Given the description of an element on the screen output the (x, y) to click on. 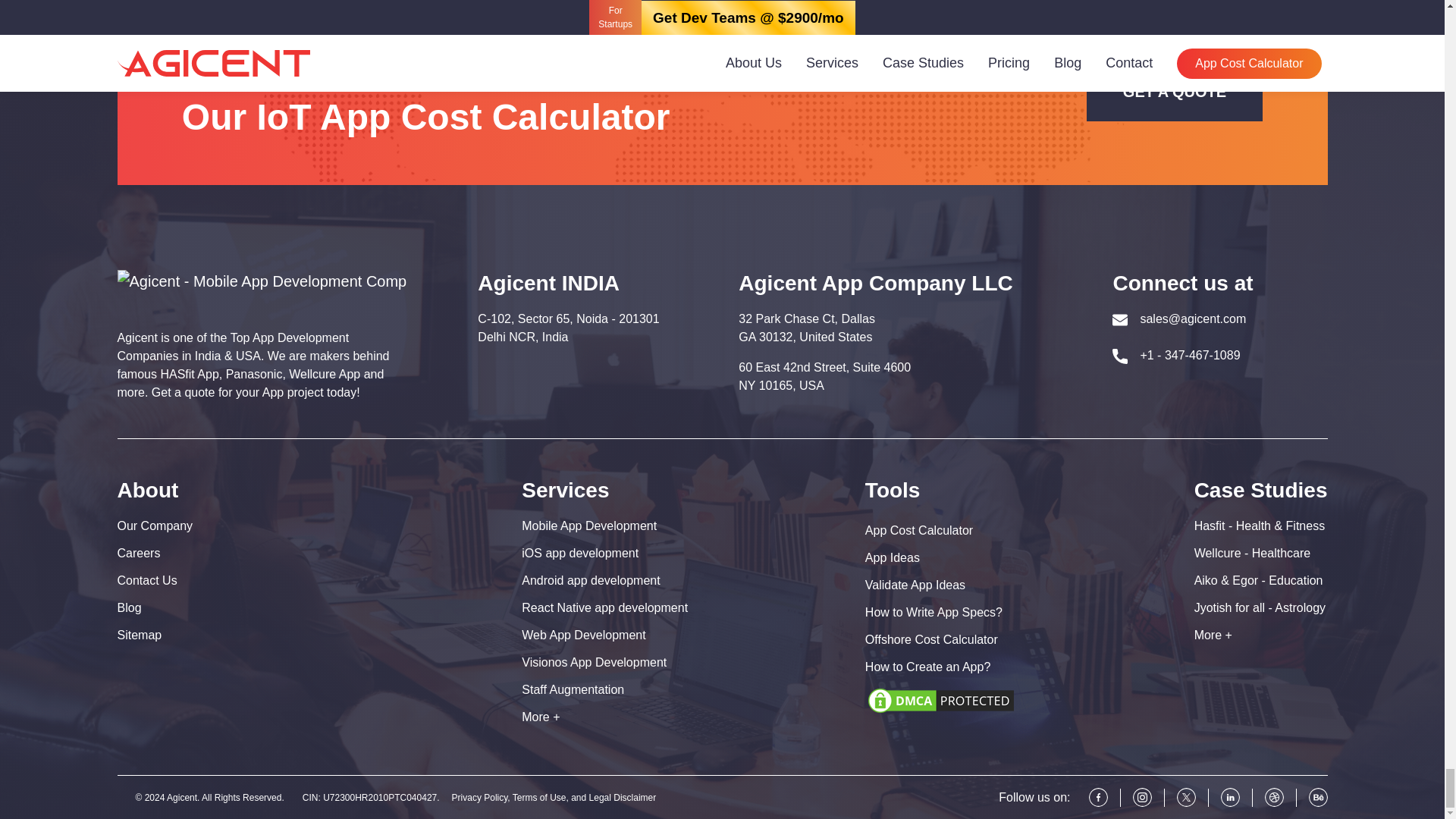
DMCA.com Protection Status (940, 698)
